Given the description of an element on the screen output the (x, y) to click on. 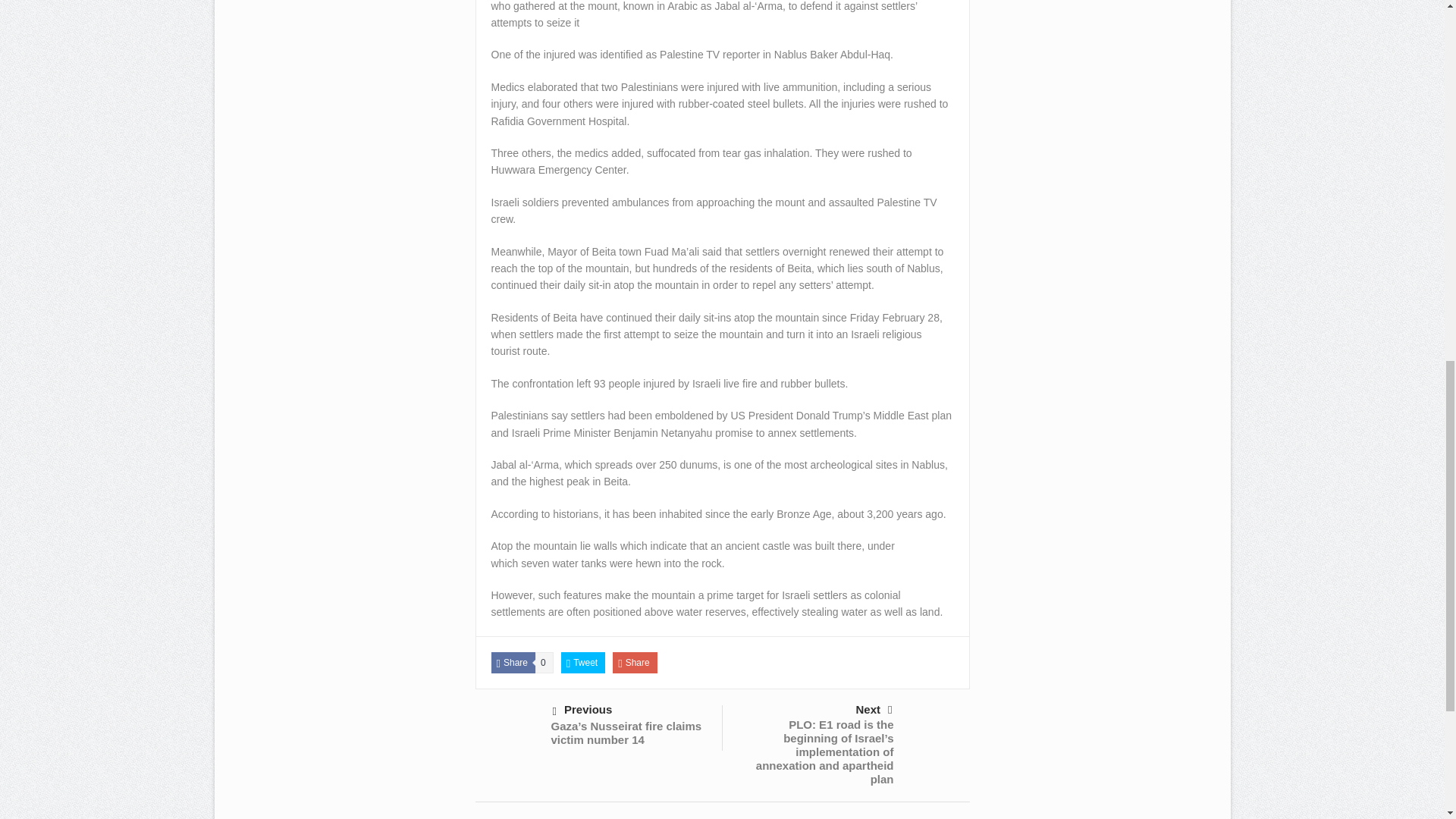
Previous (630, 710)
